Given the description of an element on the screen output the (x, y) to click on. 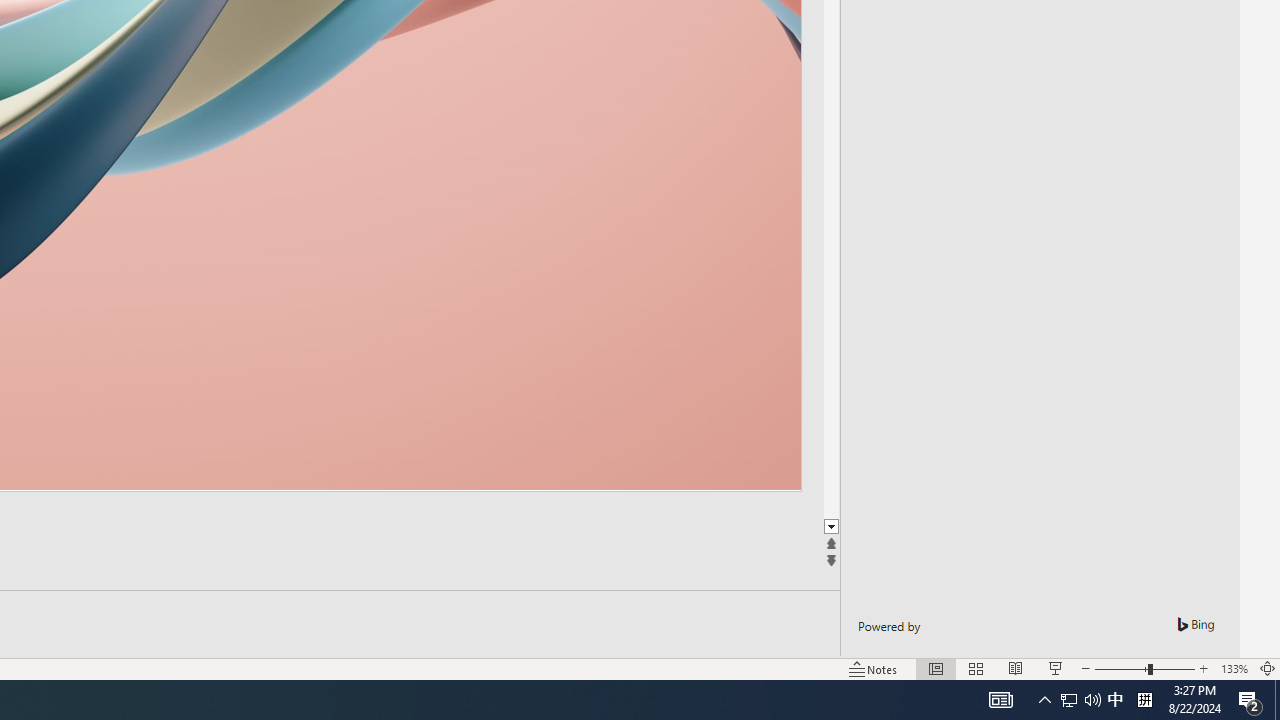
Zoom 133% (1234, 668)
